Given the description of an element on the screen output the (x, y) to click on. 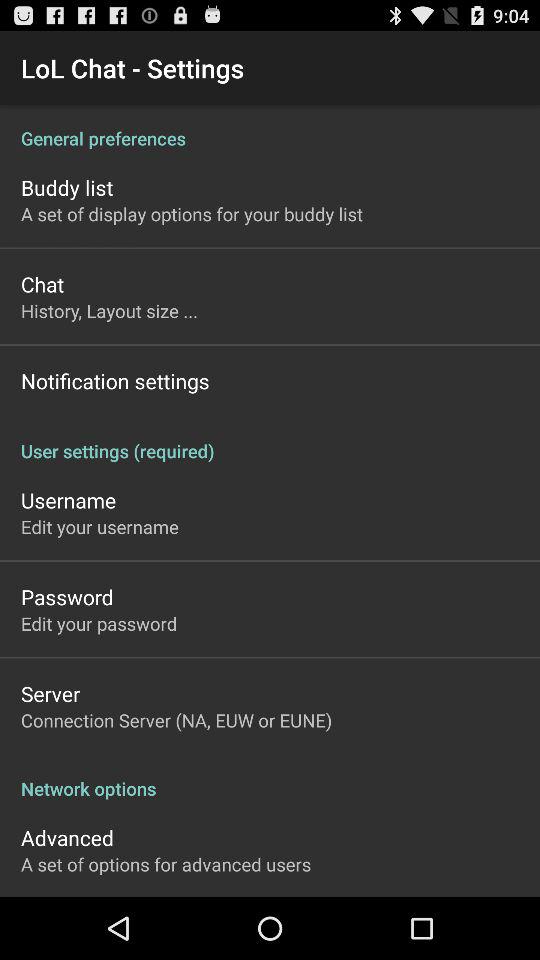
press icon below chat app (109, 310)
